Given the description of an element on the screen output the (x, y) to click on. 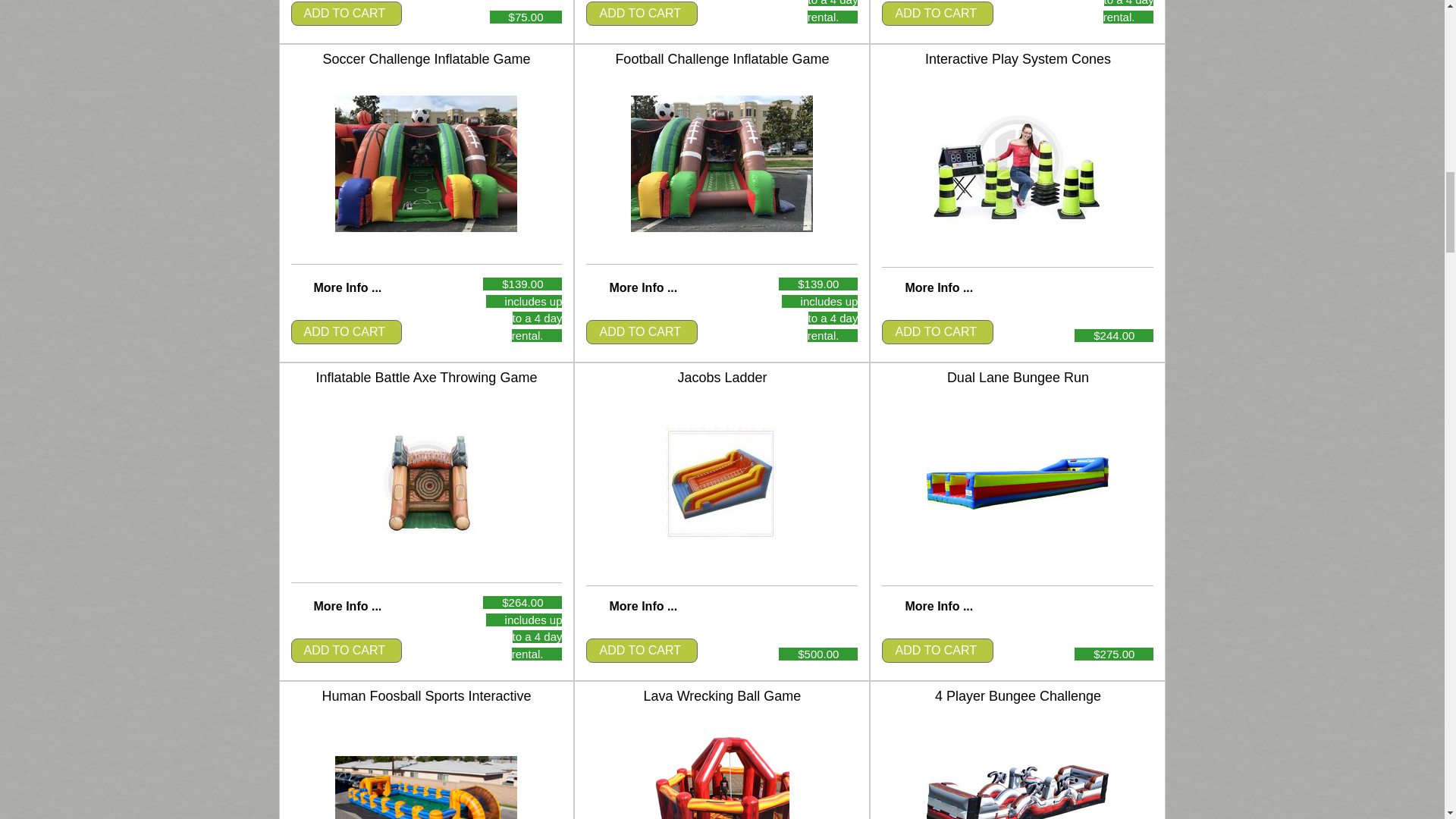
More Info ... (642, 287)
Human Foosball Sports Interactive (425, 787)
4 Player Bungee Challenge (1017, 791)
More Info ... (938, 287)
More Info ... (347, 287)
Football Challenge Inflatable Game (721, 163)
Jacobs Ladder  (721, 483)
Interactive Play System Cones (1017, 164)
More Info ... (642, 605)
Soccer Challenge Inflatable Game (425, 163)
Lava Wrecking Ball Game (721, 776)
Dual Lane Bungee Run  (1017, 483)
More Info ... (938, 605)
More Info ... (347, 605)
Inflatable Battle Axe Throwing Game (425, 481)
